Given the description of an element on the screen output the (x, y) to click on. 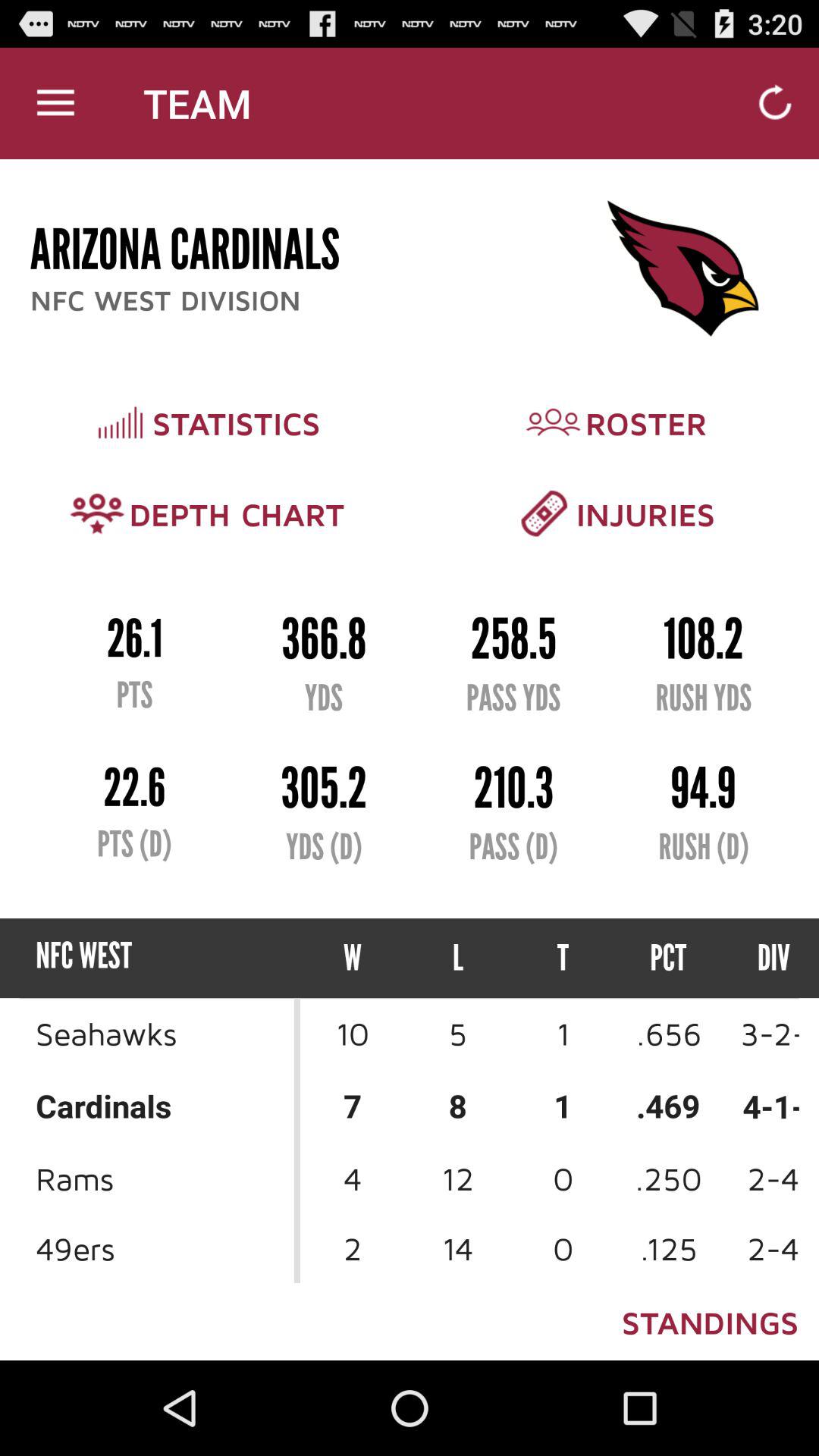
press the pct (668, 958)
